Given the description of an element on the screen output the (x, y) to click on. 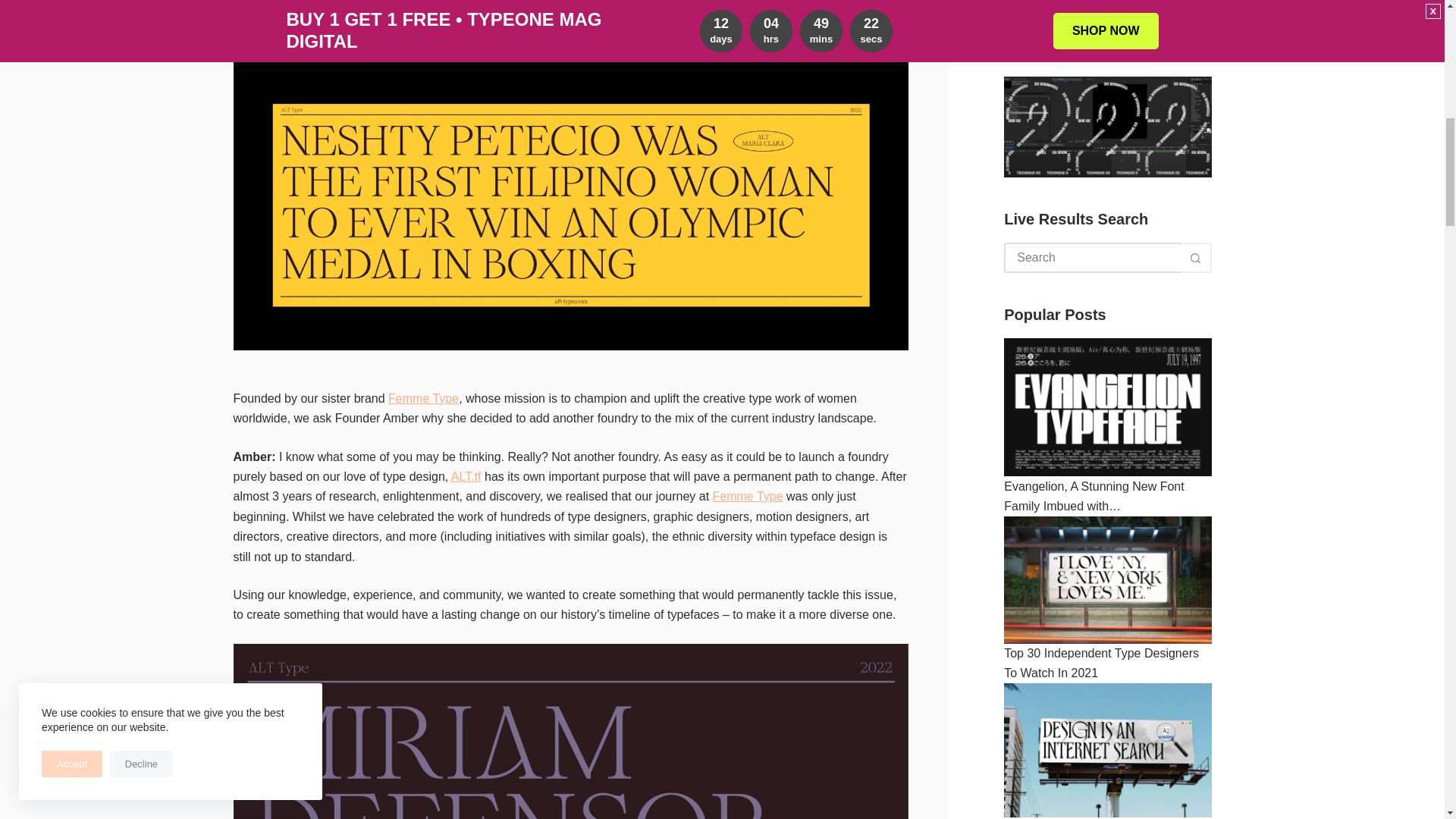
Top 20 Independent Type Designers (1107, 93)
The New Fonts Kicking off 2022 on Type Department (1107, 252)
